Given the description of an element on the screen output the (x, y) to click on. 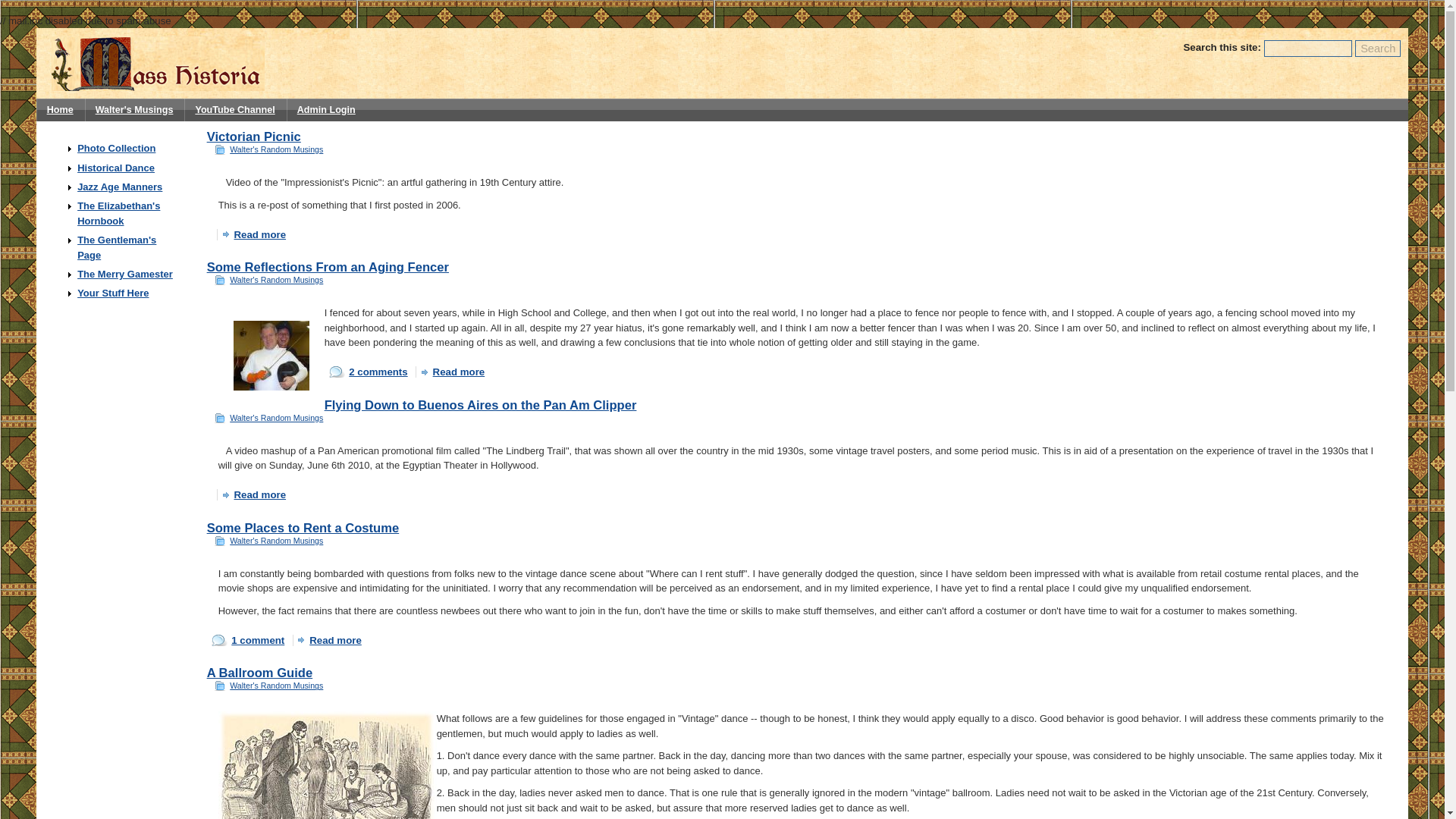
2 comments (368, 371)
Walter Nelson's Blog (134, 109)
Some Reflections From an Aging Fencer (327, 267)
Victorian Picnic (253, 136)
Walter's Random Musings (276, 540)
Read more (254, 234)
The Gentleman's Page (116, 247)
The Merry Gamester (125, 274)
Your Stuff Here (112, 292)
Walter Nelson's YouTube Channel  (234, 109)
